Given the description of an element on the screen output the (x, y) to click on. 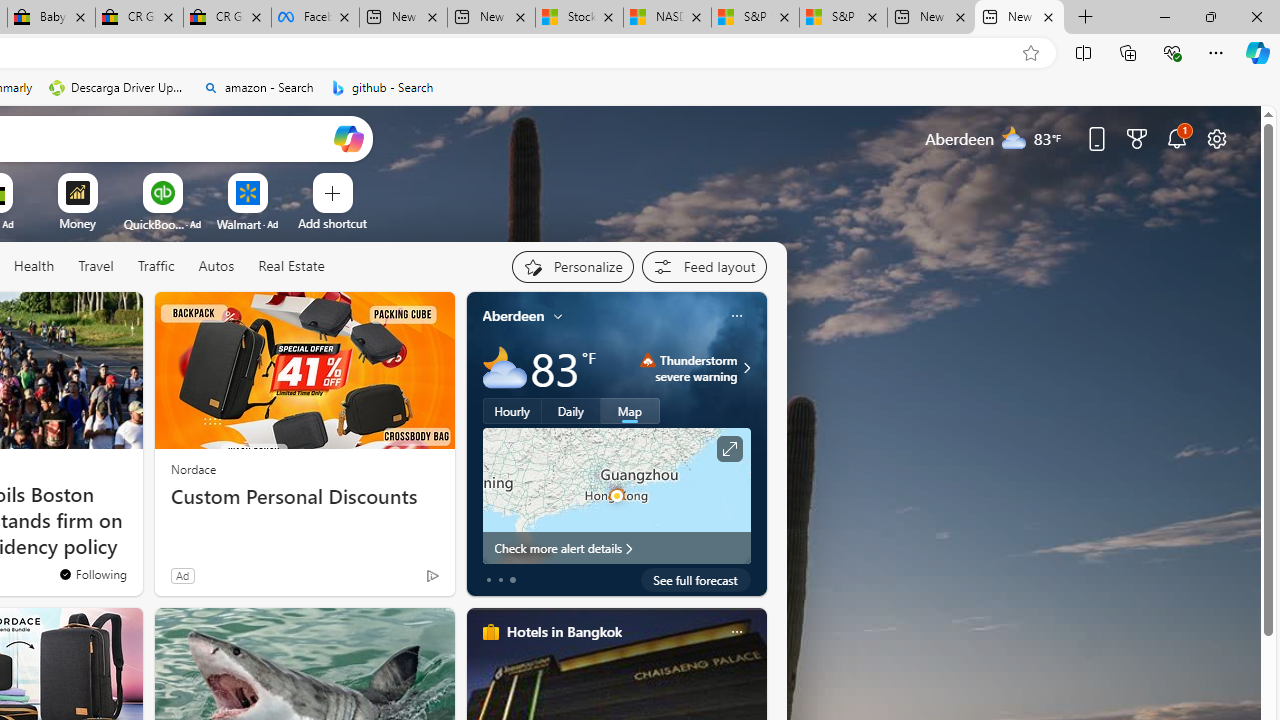
Mostly cloudy (504, 368)
Feed settings (703, 266)
Autos (215, 265)
Microsoft rewards (1137, 138)
Hourly (511, 411)
Notifications (1176, 138)
Real Estate (290, 267)
Autos (216, 267)
